Given the description of an element on the screen output the (x, y) to click on. 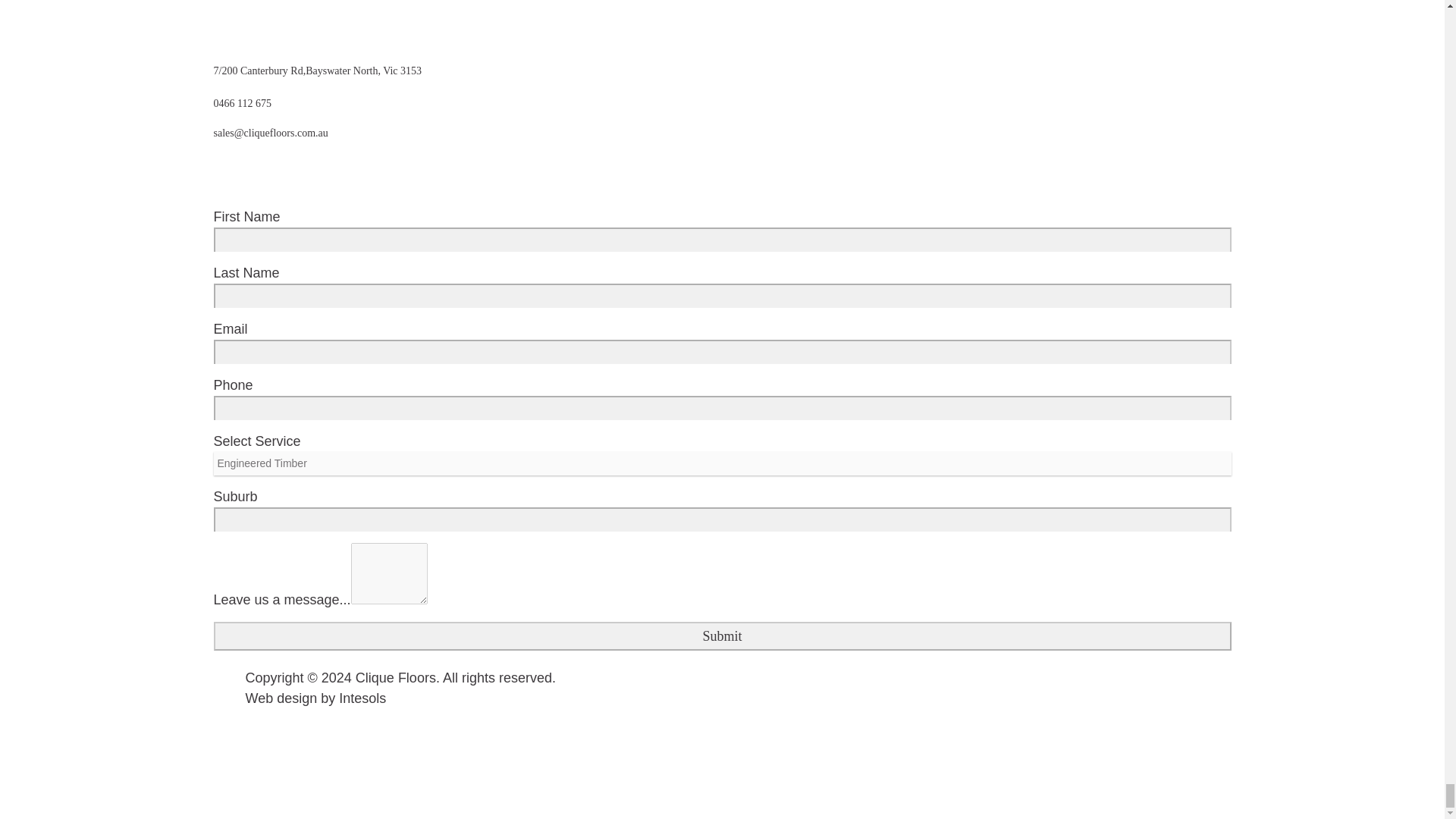
Submit (722, 635)
